Given the description of an element on the screen output the (x, y) to click on. 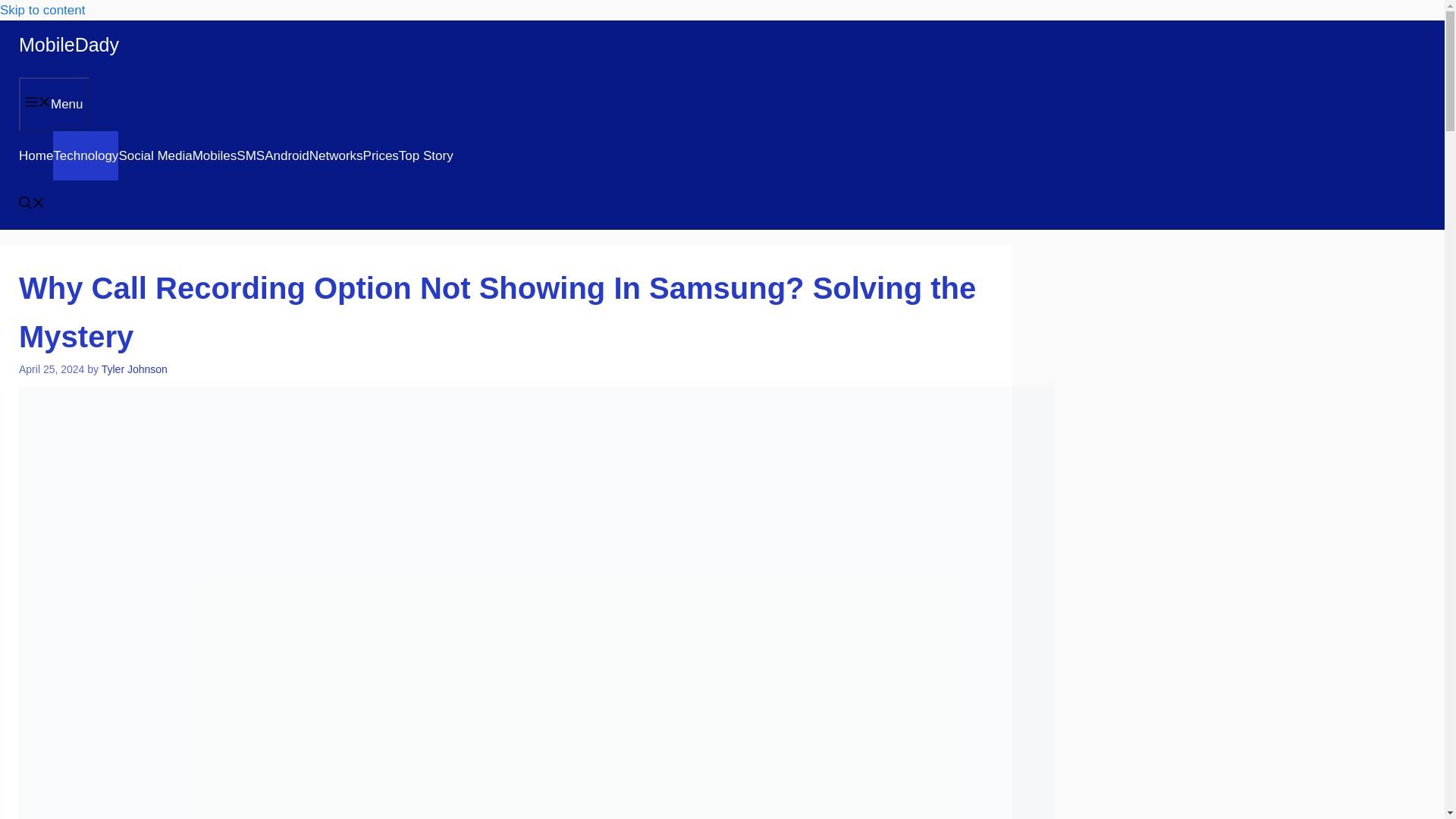
Mobiles (214, 155)
Menu (53, 103)
View all posts by Tyler Johnson (134, 369)
Tyler Johnson (134, 369)
Top Story (425, 155)
Technology (84, 155)
MobileDady (68, 44)
Networks (335, 155)
Social Media (154, 155)
Skip to content (42, 10)
Android (286, 155)
Skip to content (42, 10)
